Given the description of an element on the screen output the (x, y) to click on. 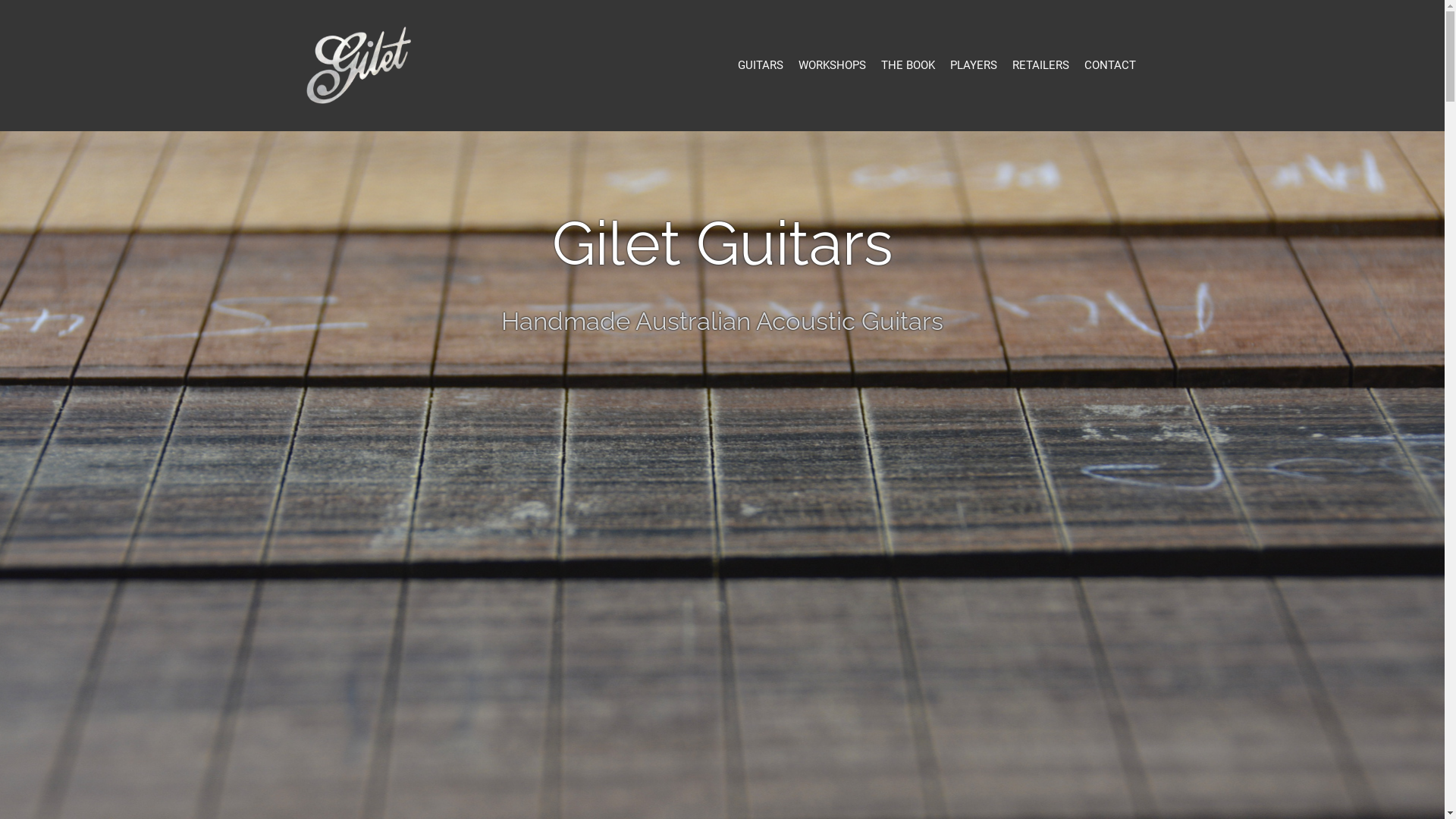
THE BOOK Element type: text (908, 65)
PLAYERS Element type: text (972, 65)
CONTACT Element type: text (1109, 65)
Gilet Guitars Element type: hover (358, 64)
GUITARS Element type: text (759, 65)
RETAILERS Element type: text (1039, 65)
WORKSHOPS Element type: text (831, 65)
